Given the description of an element on the screen output the (x, y) to click on. 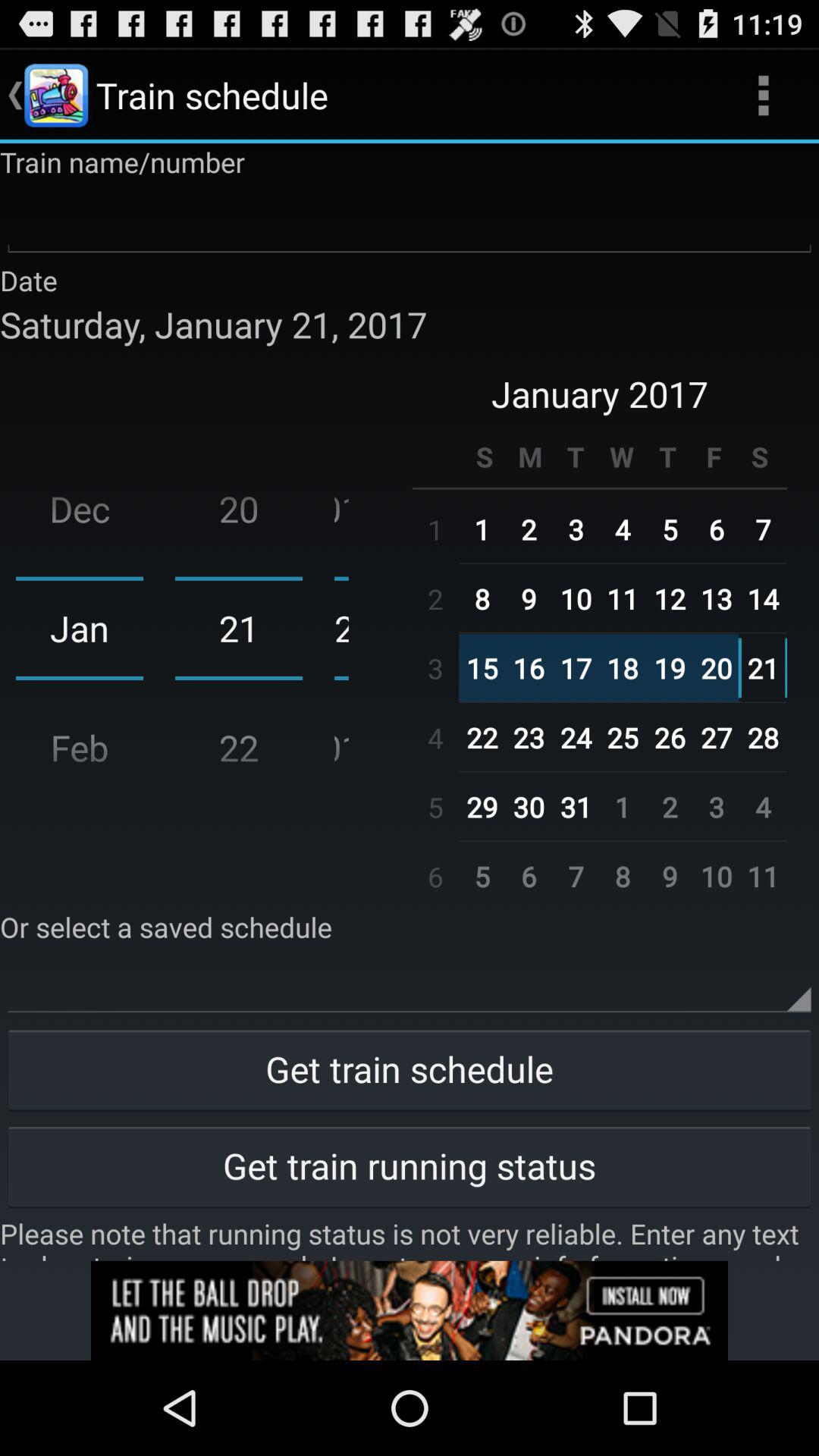
advertisement (409, 1310)
